Given the description of an element on the screen output the (x, y) to click on. 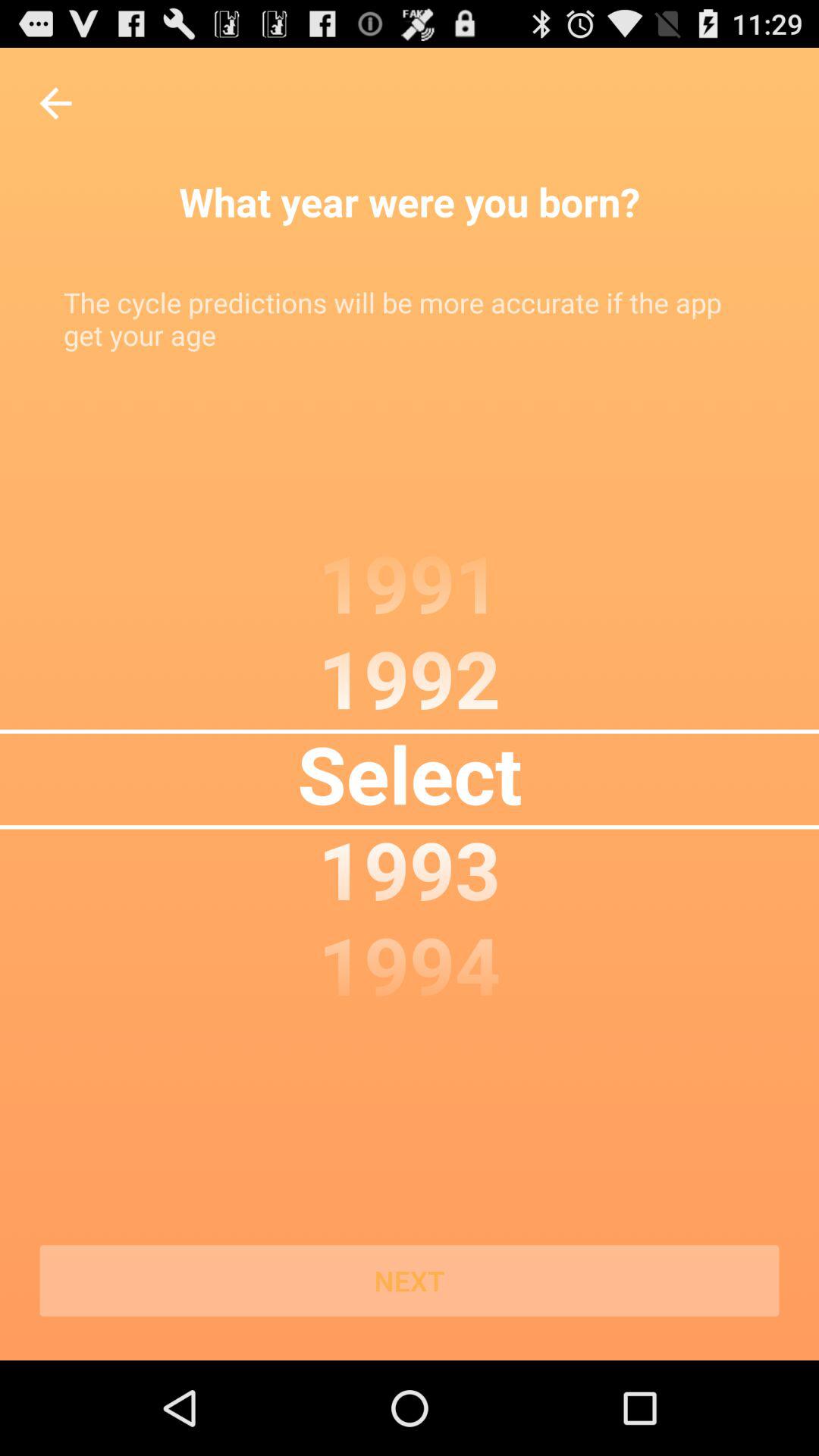
go back a page (55, 103)
